Given the description of an element on the screen output the (x, y) to click on. 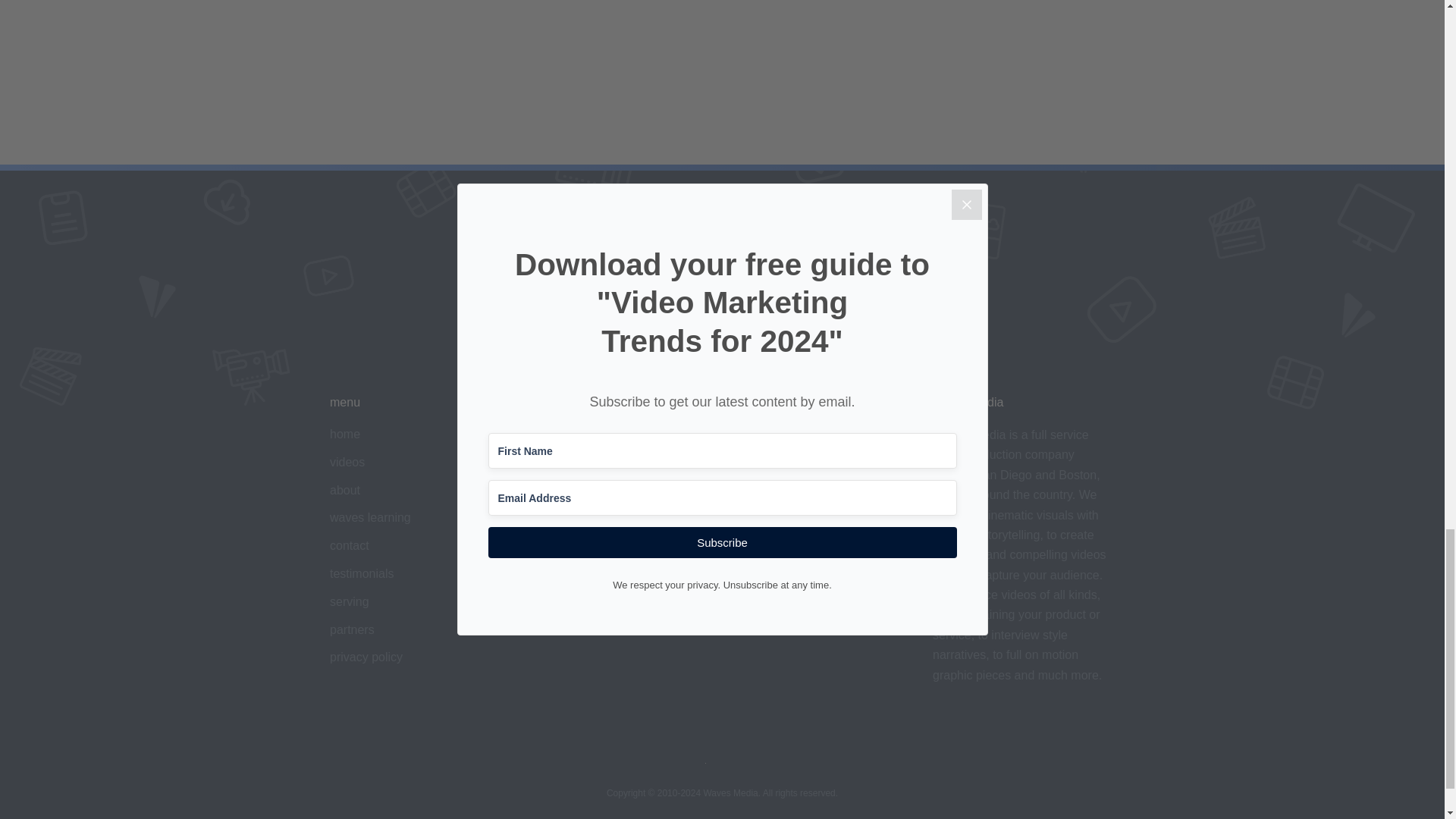
instagram (557, 490)
serving (349, 601)
privacy policy (366, 656)
videos (347, 461)
partners (352, 629)
waves learning (370, 517)
vimeo (547, 433)
about (344, 490)
home (344, 433)
testimonials (361, 573)
contact (349, 545)
facebook (555, 517)
youtube (552, 461)
